Given the description of an element on the screen output the (x, y) to click on. 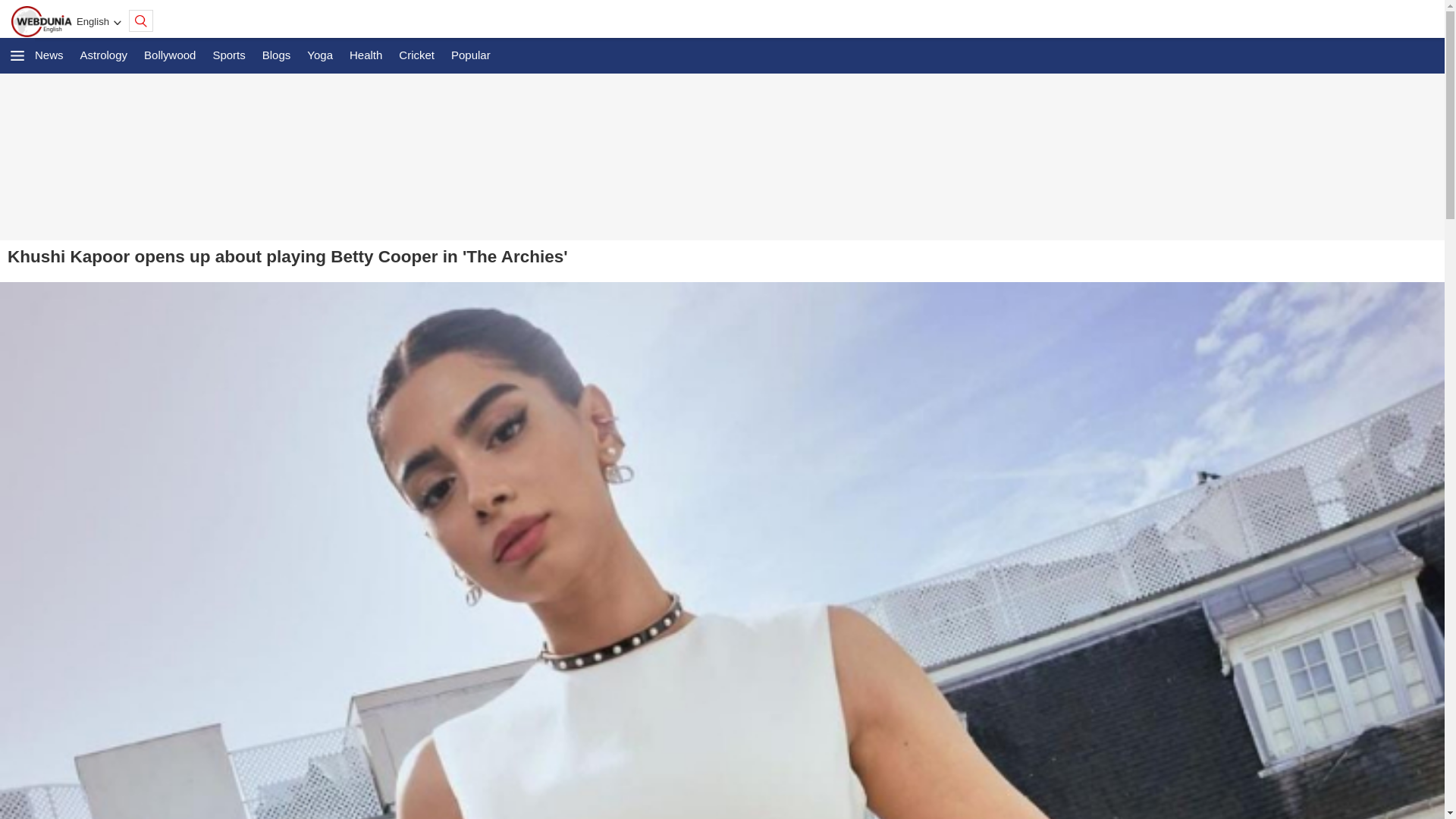
Blogs (276, 54)
Sports (228, 54)
Cricket (416, 54)
Yoga (319, 54)
Bollywood (169, 54)
Astrology (103, 54)
News (49, 54)
Health (366, 54)
English (92, 21)
